Given the description of an element on the screen output the (x, y) to click on. 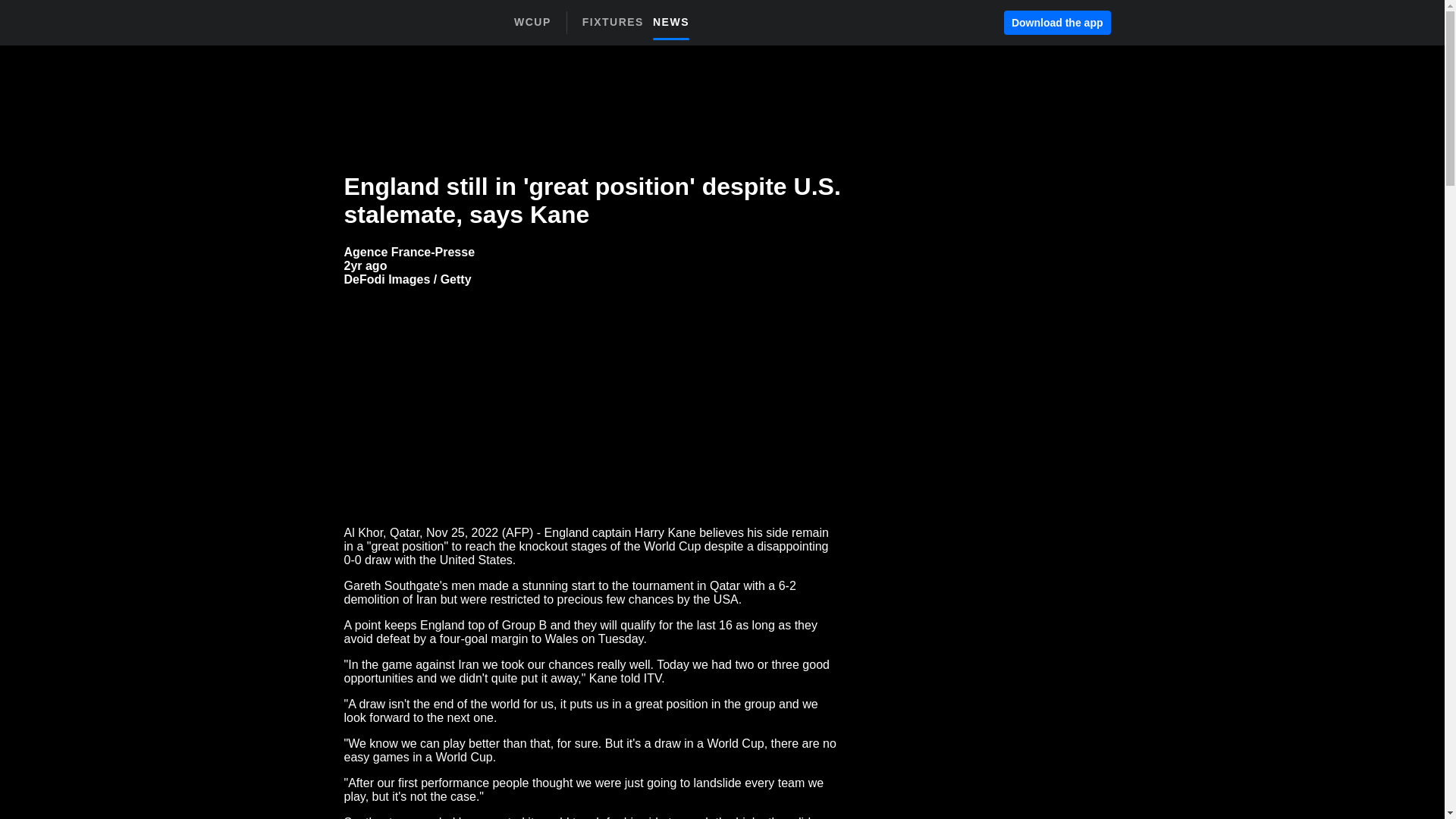
Download the app (640, 26)
2022-11-25T21:25:39.000Z (1057, 22)
WCUP (365, 265)
FIXTURES (532, 22)
NEWS (617, 21)
